Given the description of an element on the screen output the (x, y) to click on. 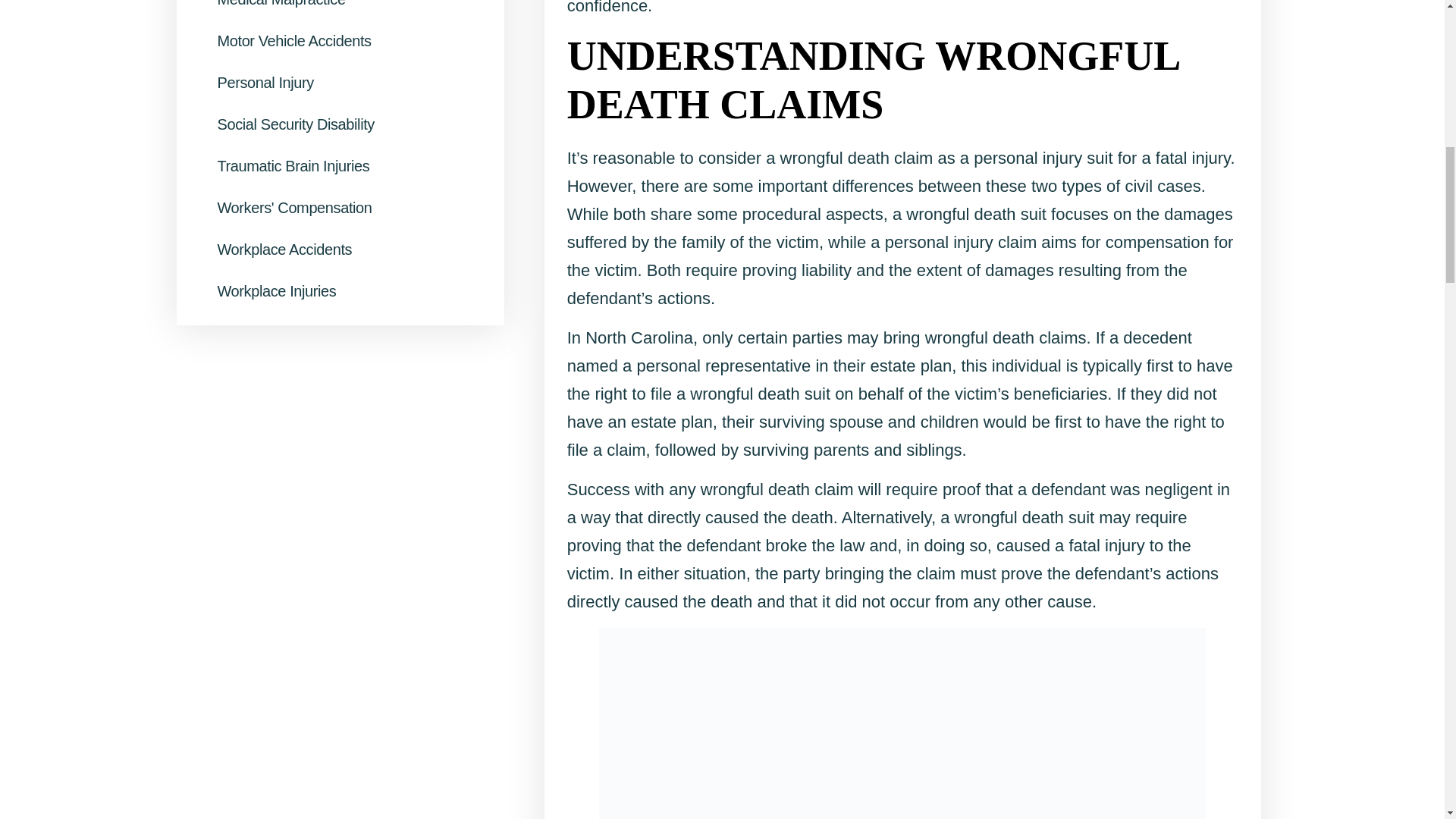
What constitutes wrongful death in North Carolina? (901, 723)
